Given the description of an element on the screen output the (x, y) to click on. 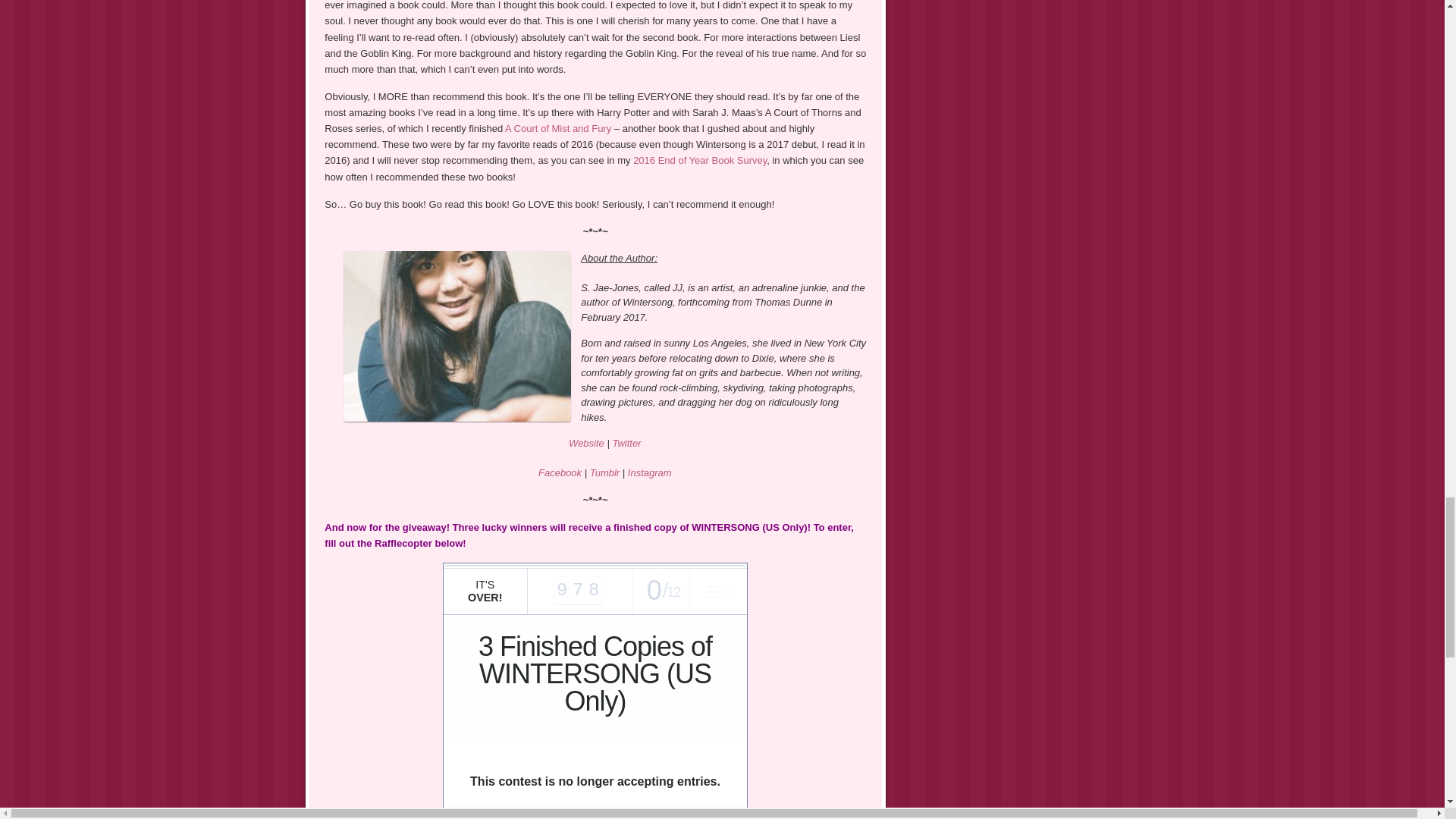
2016 End of Year Book Survey (700, 160)
Tumblr (604, 472)
Website (586, 442)
Facebook (559, 472)
A Court of Mist and Fury (558, 128)
Instagram (649, 472)
Twitter (625, 442)
